Given the description of an element on the screen output the (x, y) to click on. 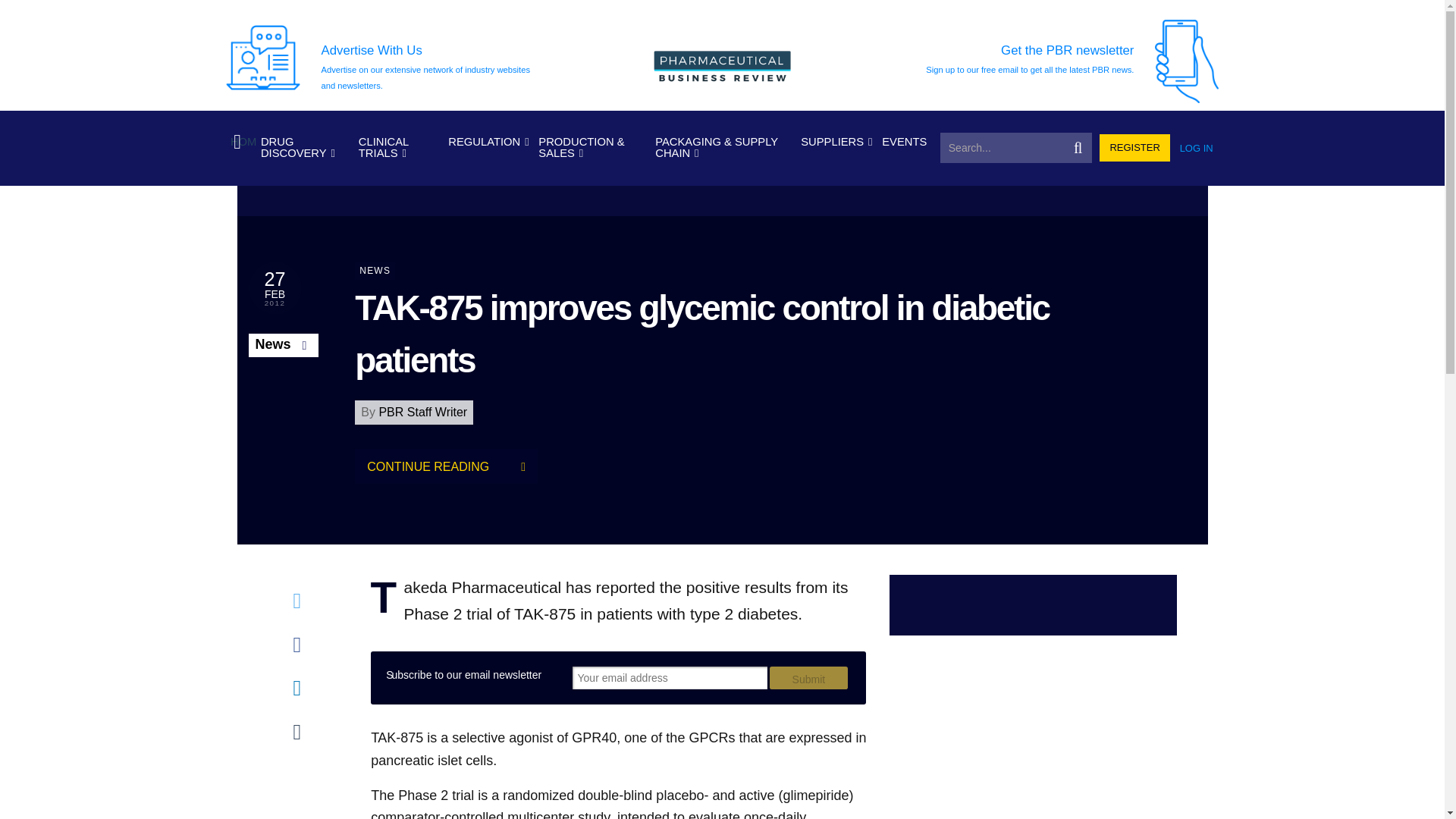
HOME (240, 142)
Submit (808, 677)
CLINICAL TRIALS (398, 148)
DRUG DISCOVERY (304, 148)
